Given the description of an element on the screen output the (x, y) to click on. 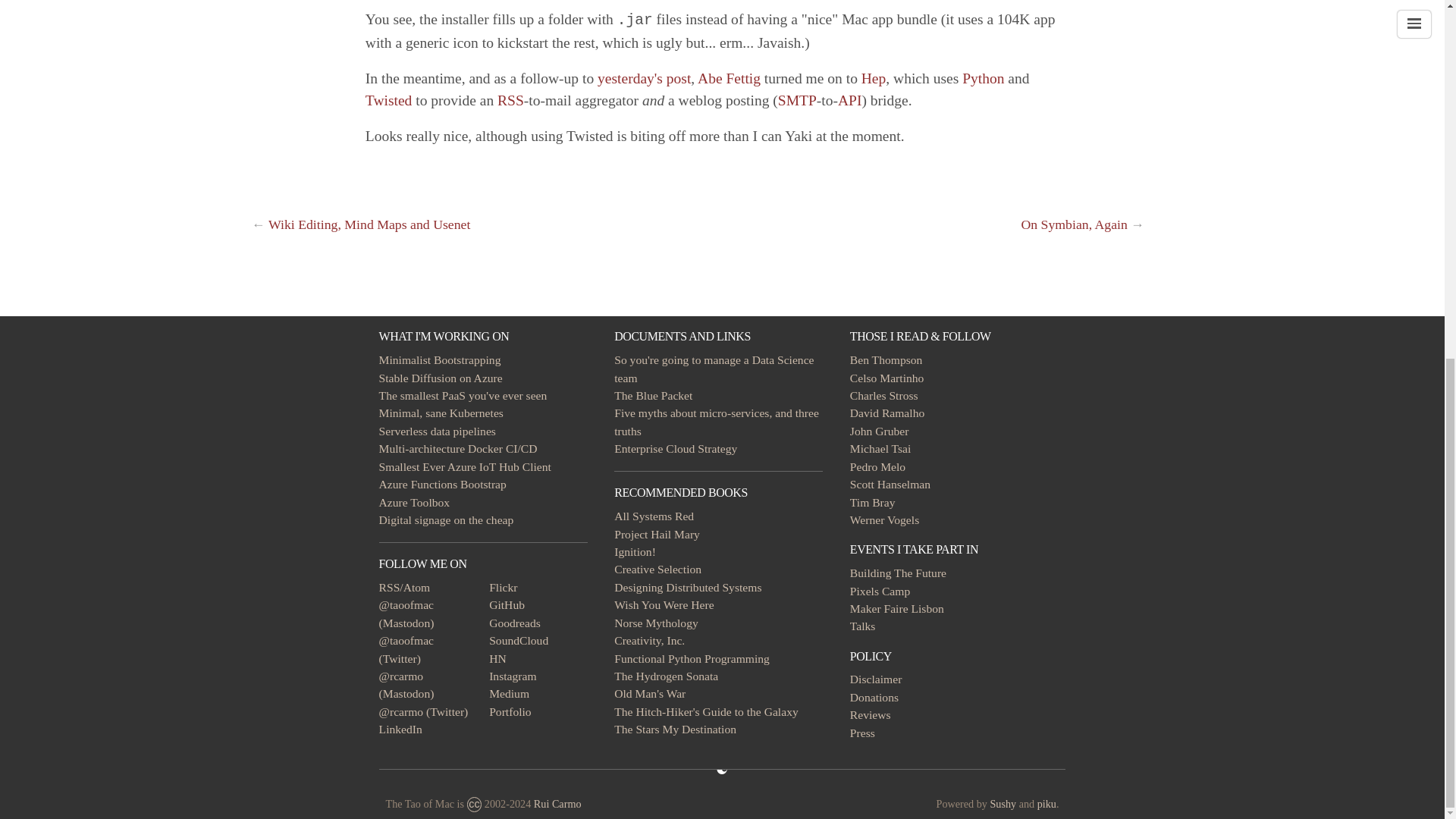
API (849, 100)
RSS (510, 100)
yesterday's post (643, 78)
Twisted (589, 135)
Stable Diffusion on Azure (440, 377)
Abe Fettig (728, 78)
Minimalist Bootstrapping (439, 359)
Python (983, 78)
Mac (854, 19)
On Symbian, Again (1073, 224)
